Given the description of an element on the screen output the (x, y) to click on. 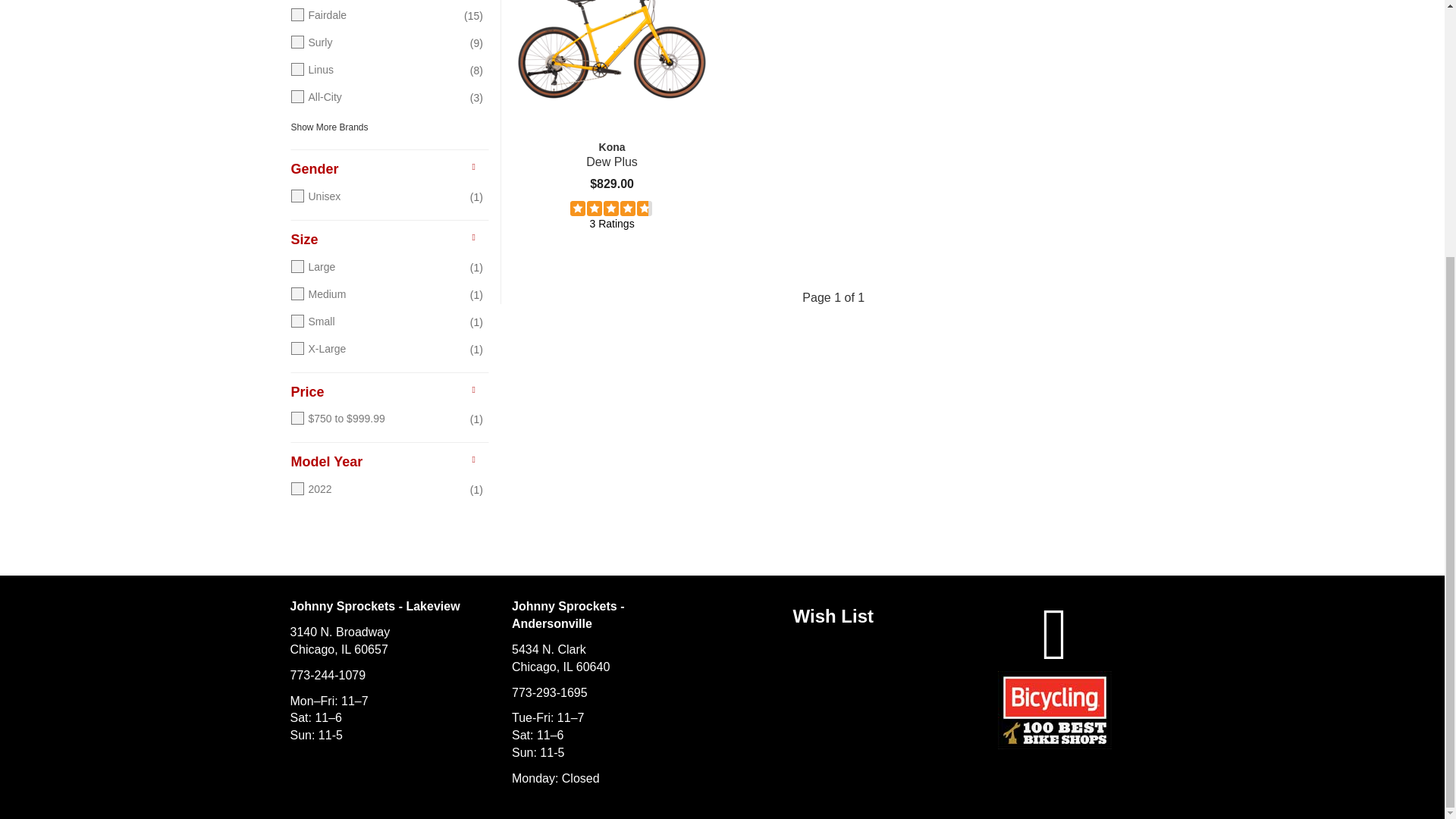
Kona Dew Plus (611, 154)
Kona Dew Plus (611, 69)
